Given the description of an element on the screen output the (x, y) to click on. 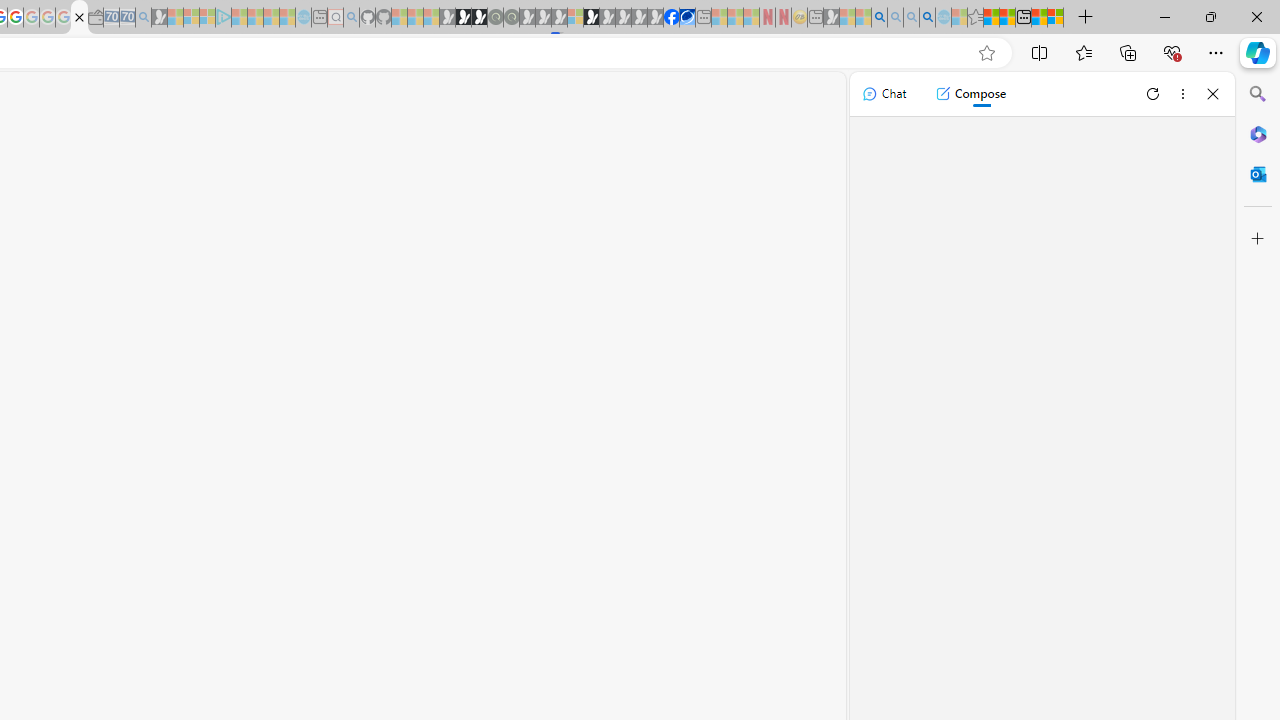
Bing AI - Search (879, 17)
Google Chrome Internet Browser Download - Search Images (927, 17)
Close Outlook pane (1258, 174)
Microsoft Start Gaming - Sleeping (159, 17)
Aberdeen, Hong Kong SAR weather forecast | Microsoft Weather (1007, 17)
Close Customize pane (1258, 239)
